Given the description of an element on the screen output the (x, y) to click on. 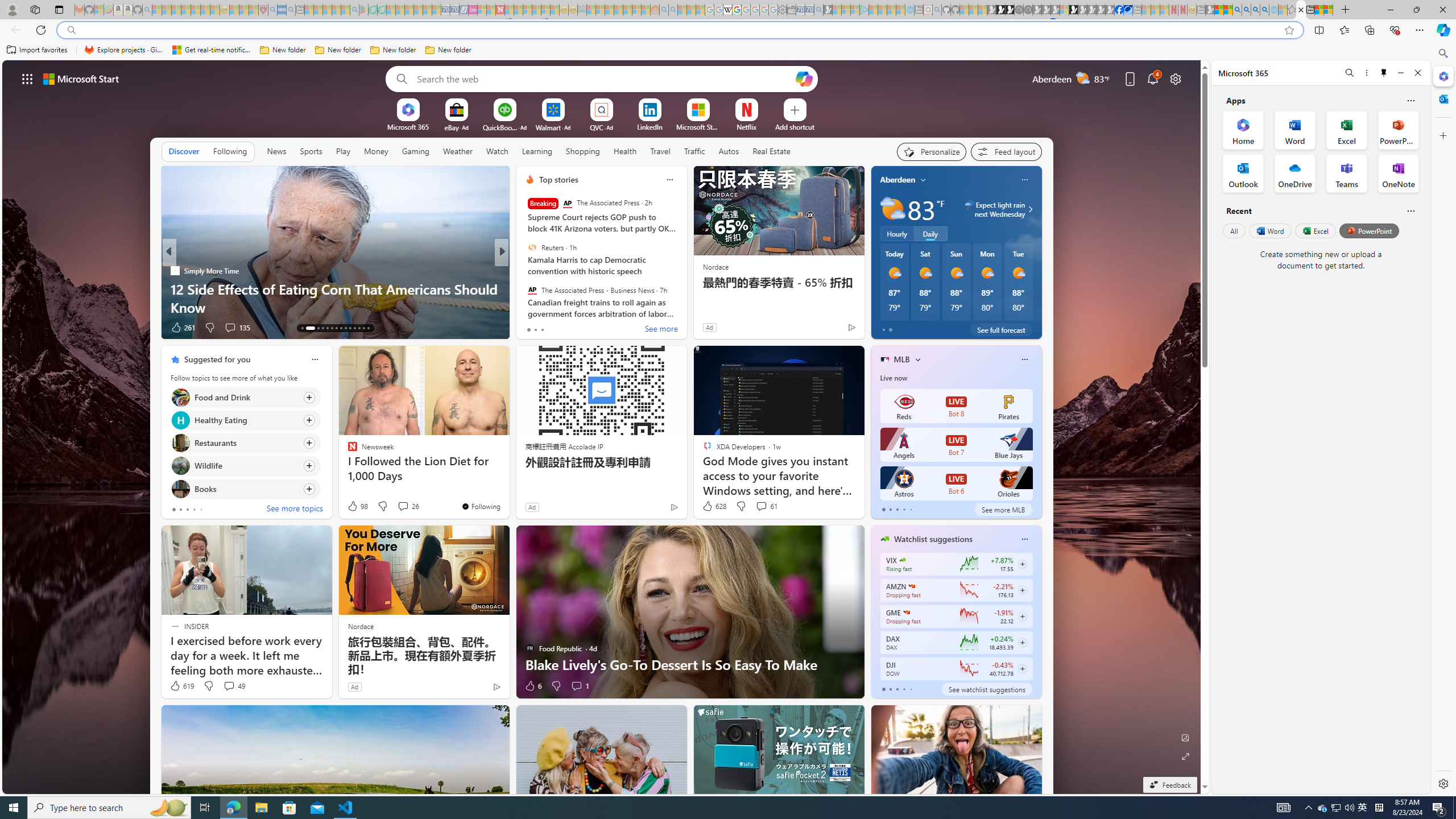
Favorites bar (715, 49)
69 Like (530, 327)
Add a site (793, 126)
See full forecast (1000, 329)
98 Like (357, 505)
PowerPoint (1369, 230)
AutomationID: tab-24 (358, 328)
54 Like (530, 327)
